Given the description of an element on the screen output the (x, y) to click on. 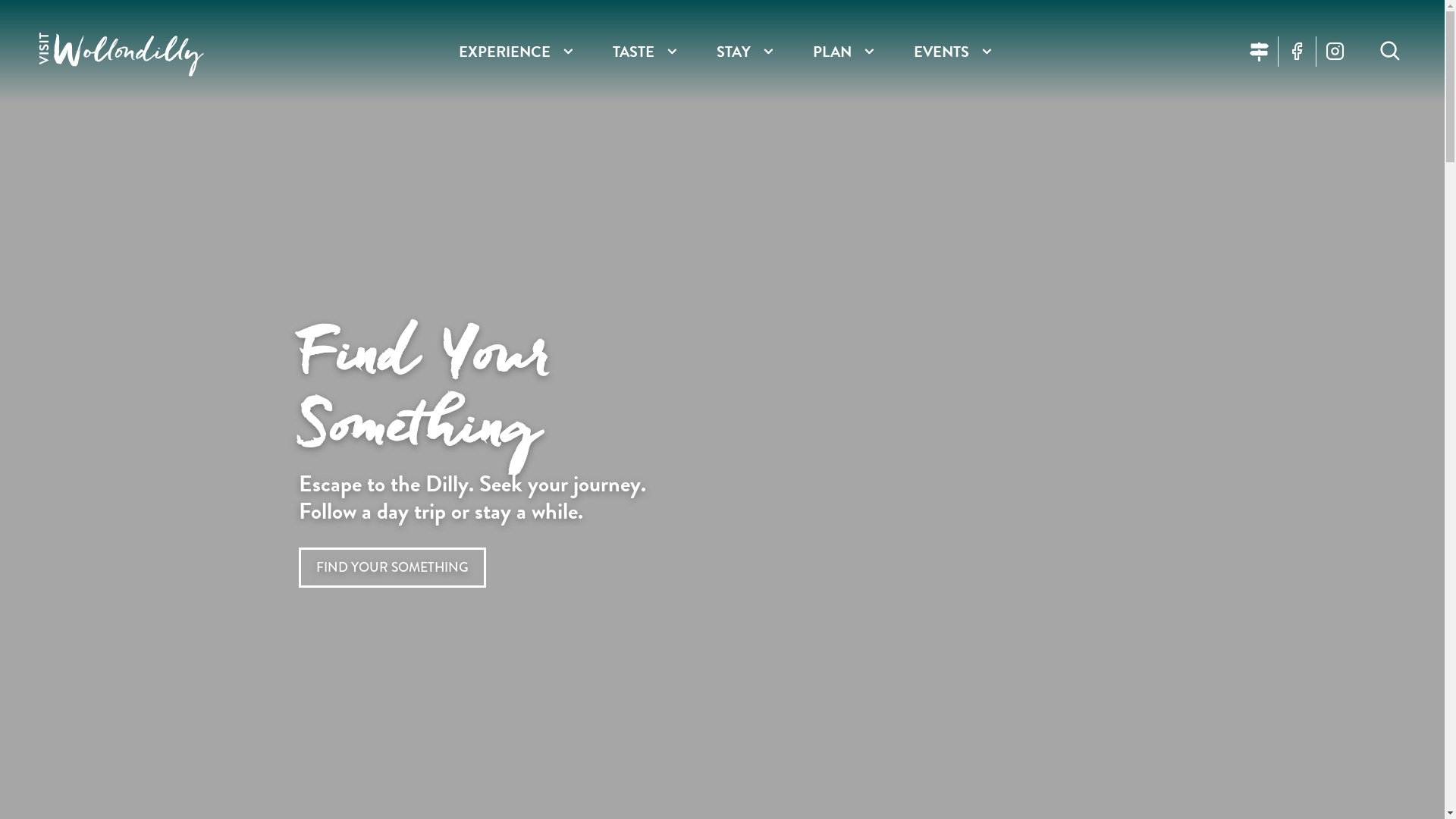
TASTE Element type: text (633, 51)
Plan your trip Element type: text (1258, 51)
Go Element type: text (1425, 51)
Facebook Element type: text (1296, 51)
EVENTS Element type: text (941, 51)
Instagram Element type: text (1334, 51)
STAY Element type: text (733, 51)
EXPERIENCE Element type: text (504, 51)
FIND YOUR SOMETHING Element type: text (392, 566)
SEARCH Element type: text (1389, 51)
PLAN Element type: text (832, 51)
